Given the description of an element on the screen output the (x, y) to click on. 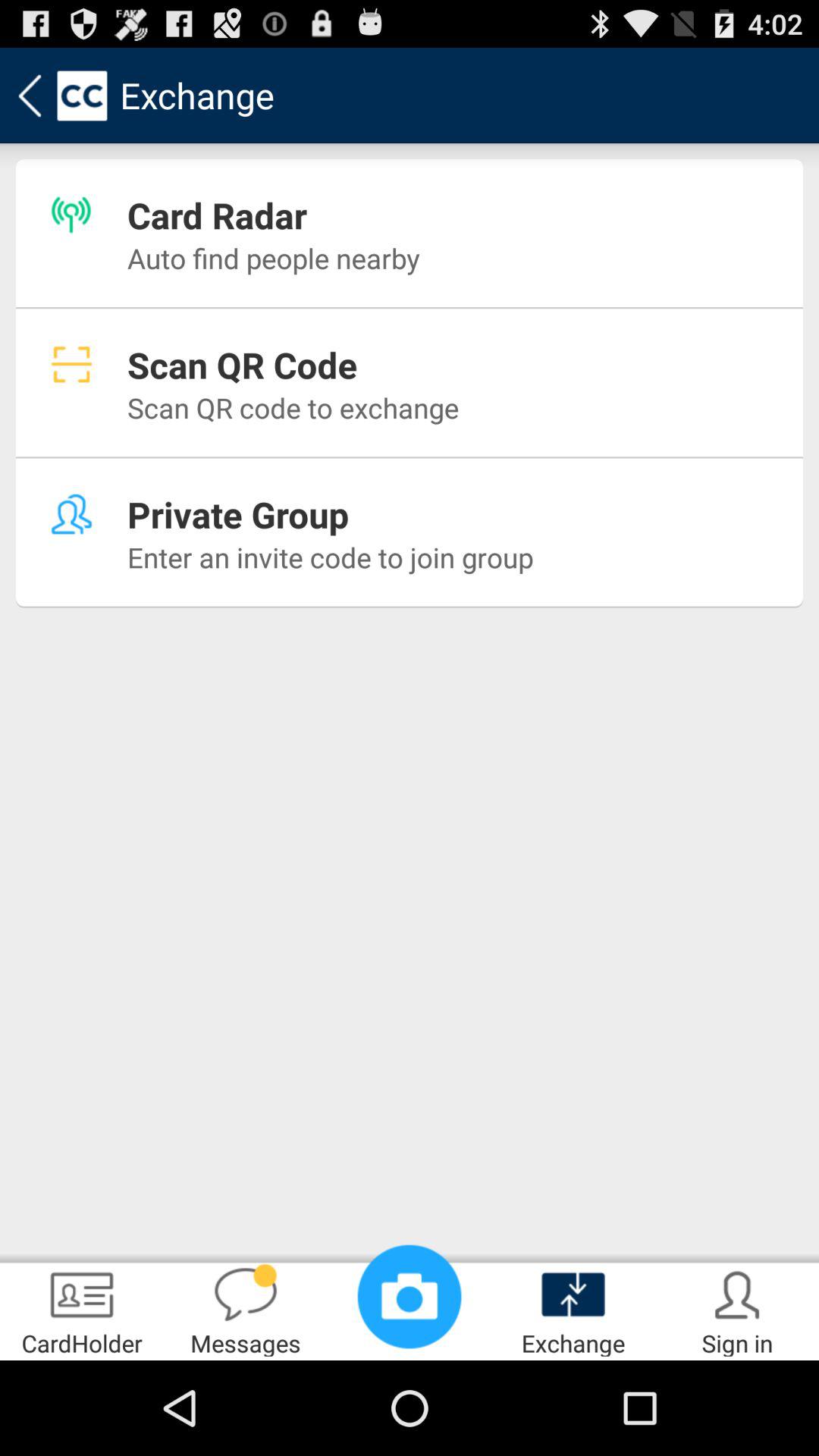
select icon to the left of the messages icon (81, 1309)
